Given the description of an element on the screen output the (x, y) to click on. 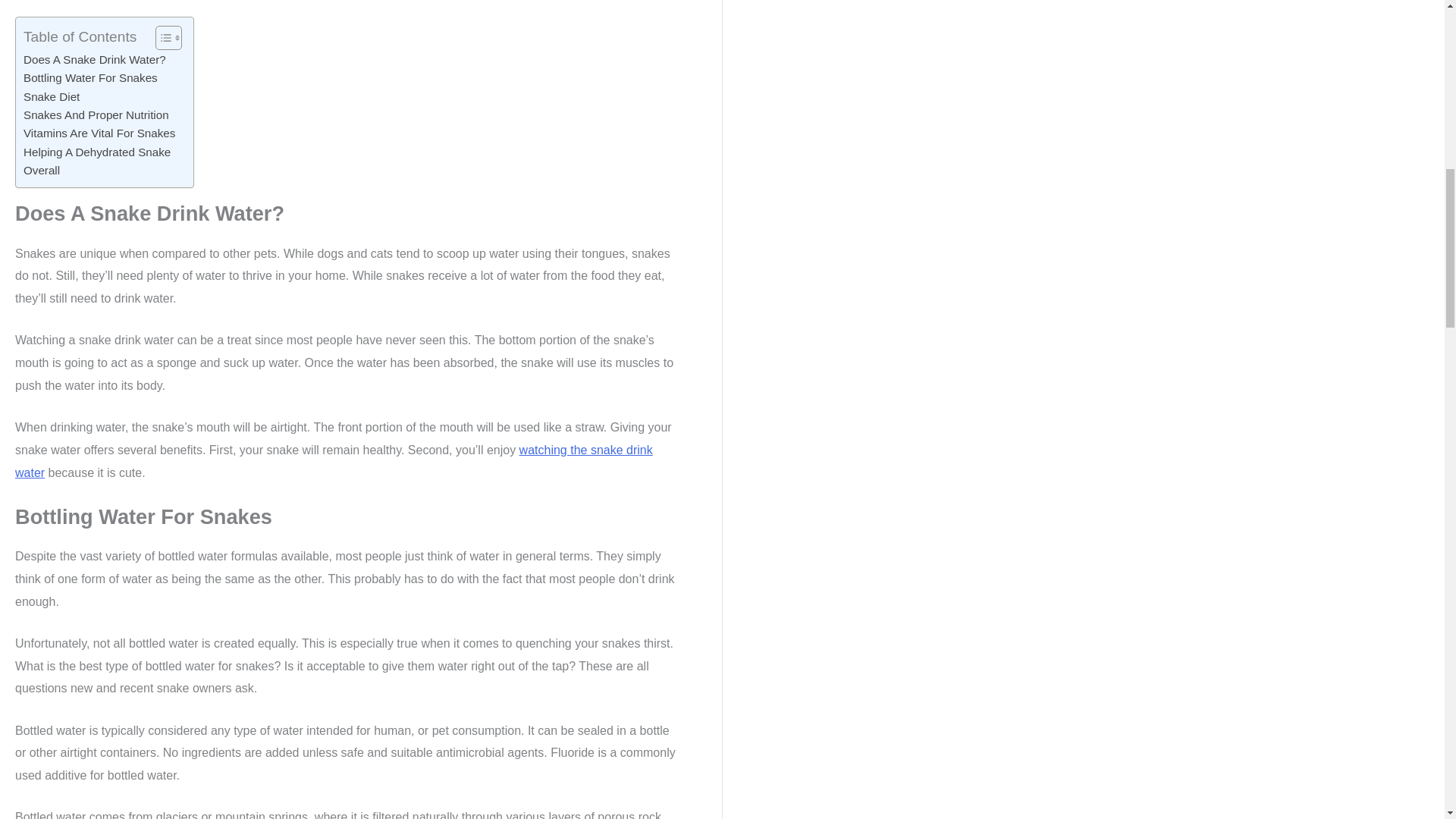
Does A Snake Drink Water? (94, 59)
Helping A Dehydrated Snake (96, 152)
Bottling Water For Snakes (90, 77)
Snakes And Proper Nutrition (95, 115)
Snake Diet (51, 96)
watching the snake drink water (333, 461)
Snakes And Proper Nutrition (95, 115)
Helping A Dehydrated Snake (96, 152)
Snake Diet (51, 96)
Vitamins Are Vital For Snakes (98, 133)
Does A Snake Drink Water? (94, 59)
Overall (41, 170)
Bottling Water For Snakes (90, 77)
Vitamins Are Vital For Snakes (98, 133)
Overall (41, 170)
